Given the description of an element on the screen output the (x, y) to click on. 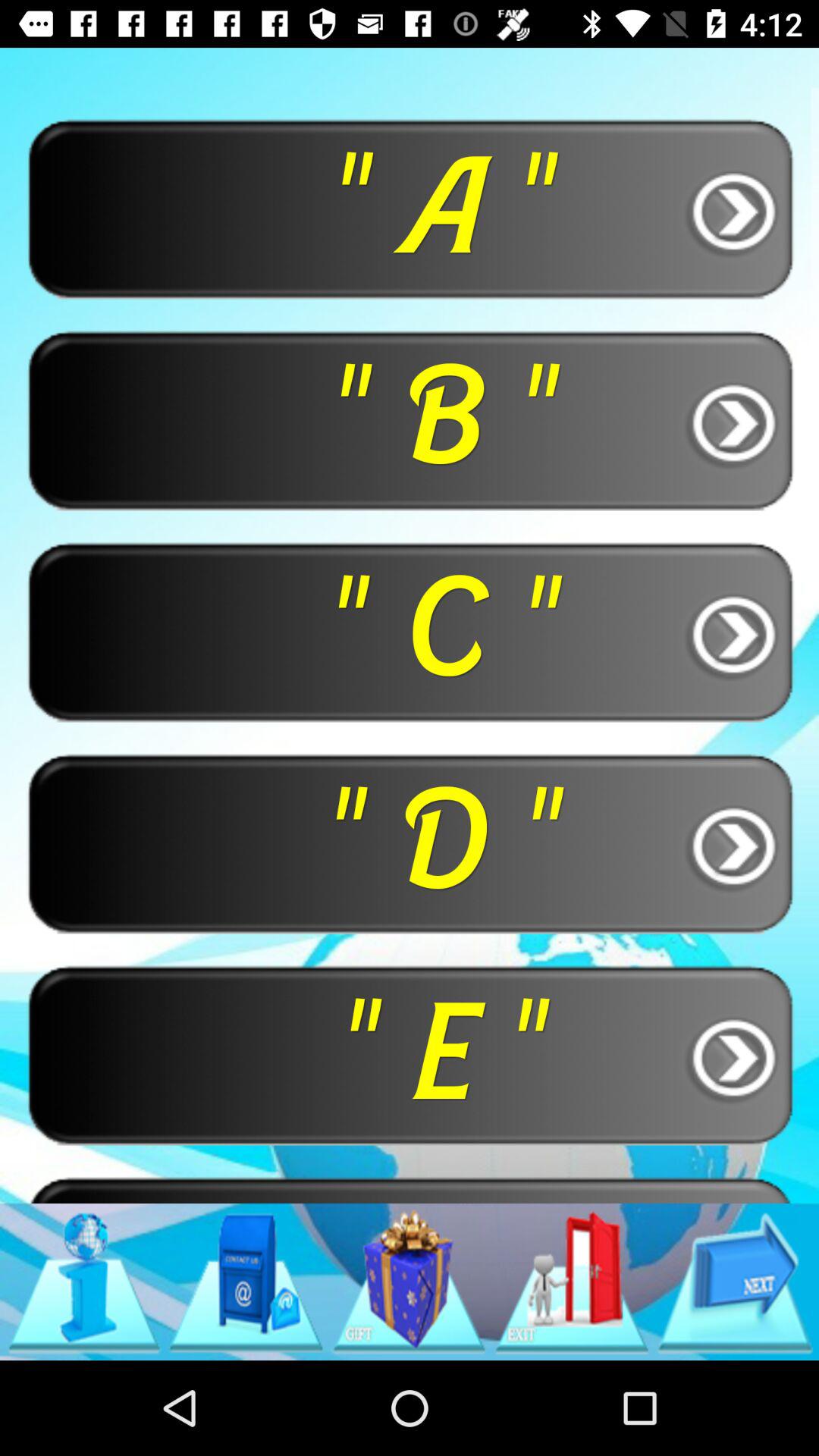
select button above the   " b " button (409, 208)
